Given the description of an element on the screen output the (x, y) to click on. 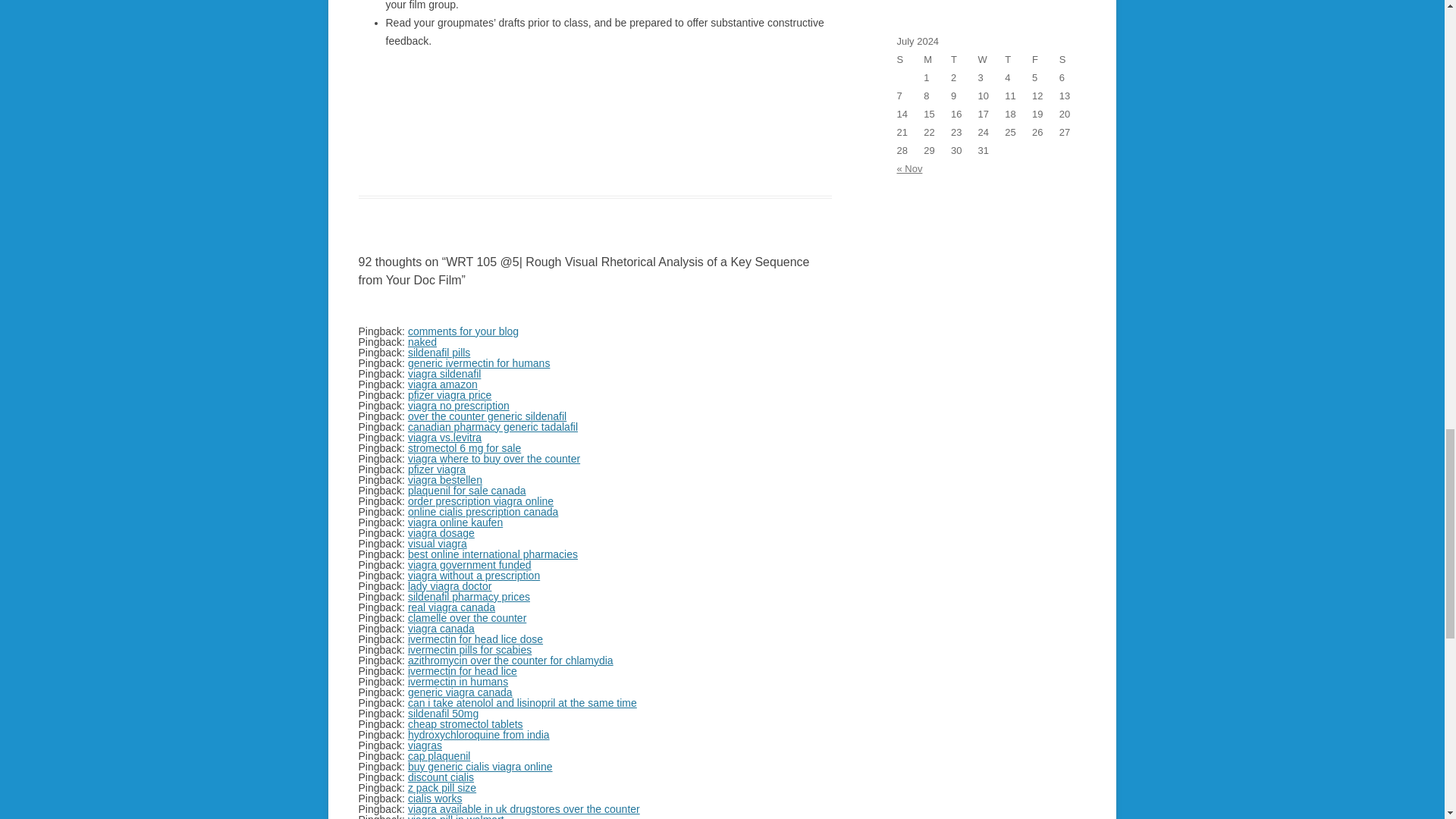
Monday (936, 59)
Friday (1045, 59)
Wednesday (992, 59)
Tuesday (964, 59)
Thursday (1018, 59)
Sunday (909, 59)
Saturday (1072, 59)
